Given the description of an element on the screen output the (x, y) to click on. 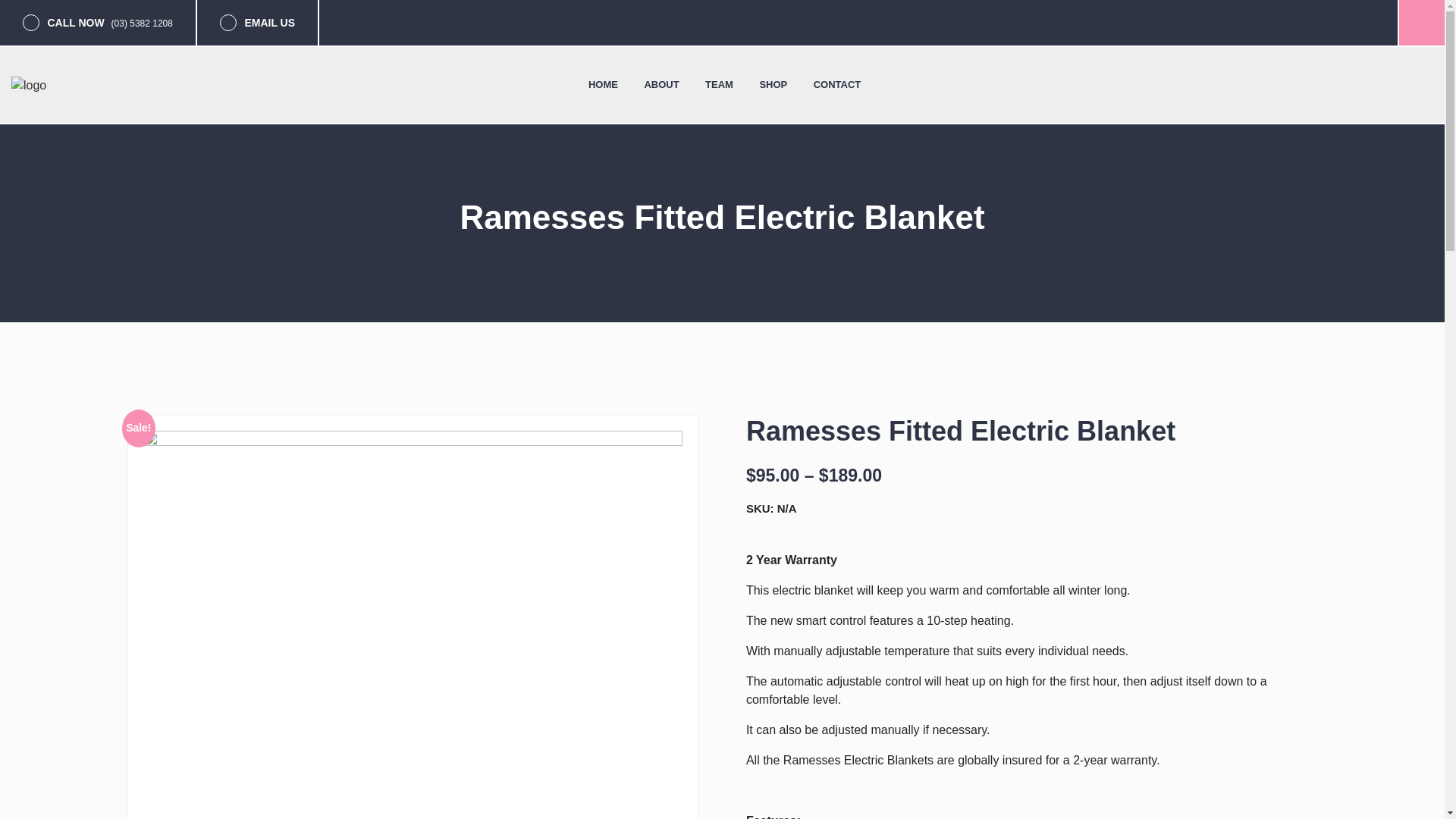
HOME (602, 84)
TEAM (719, 84)
CONTACT (837, 84)
ABOUT (660, 84)
SHOP (772, 84)
